Given the description of an element on the screen output the (x, y) to click on. 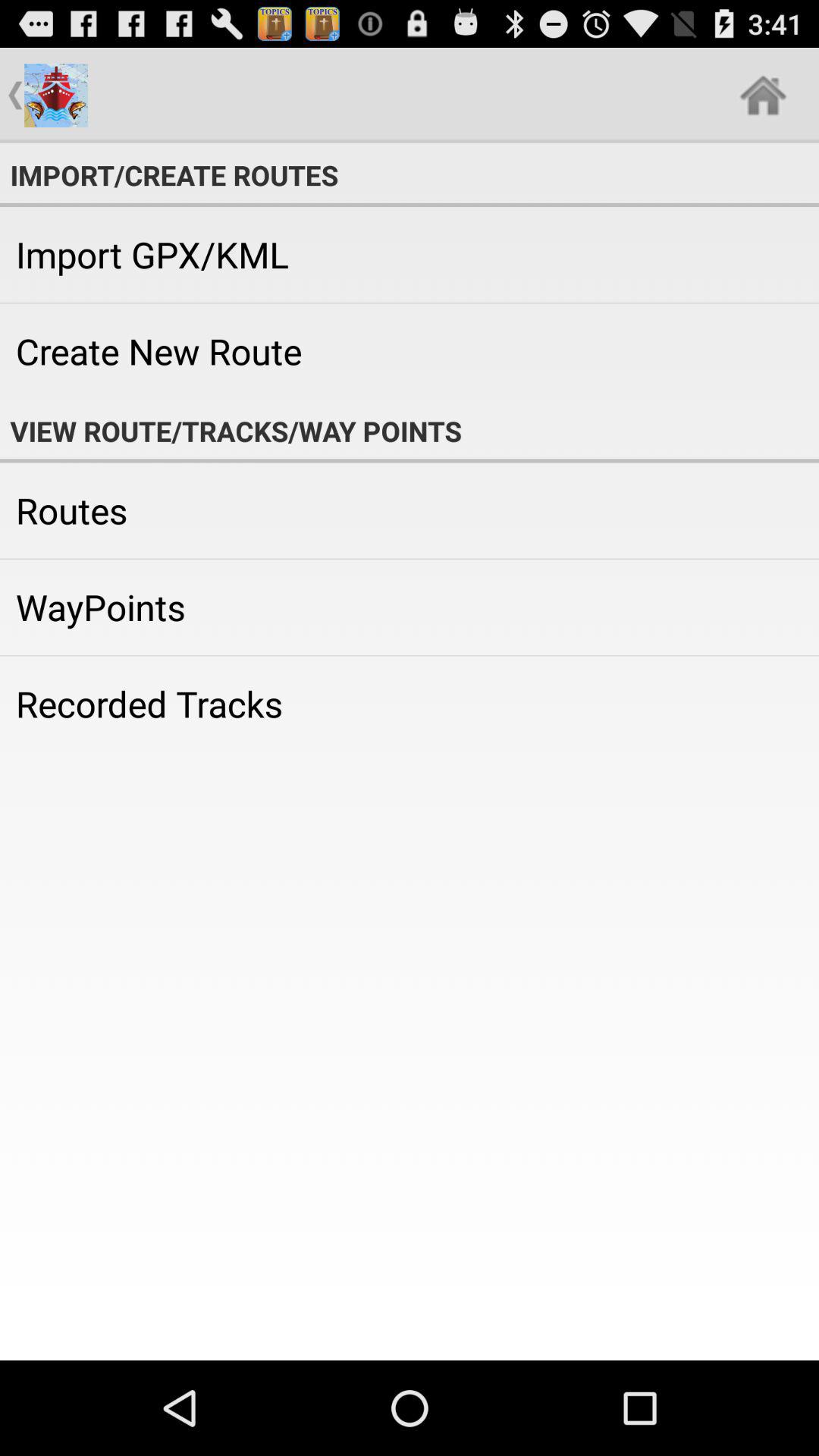
choose recorded tracks item (409, 703)
